Given the description of an element on the screen output the (x, y) to click on. 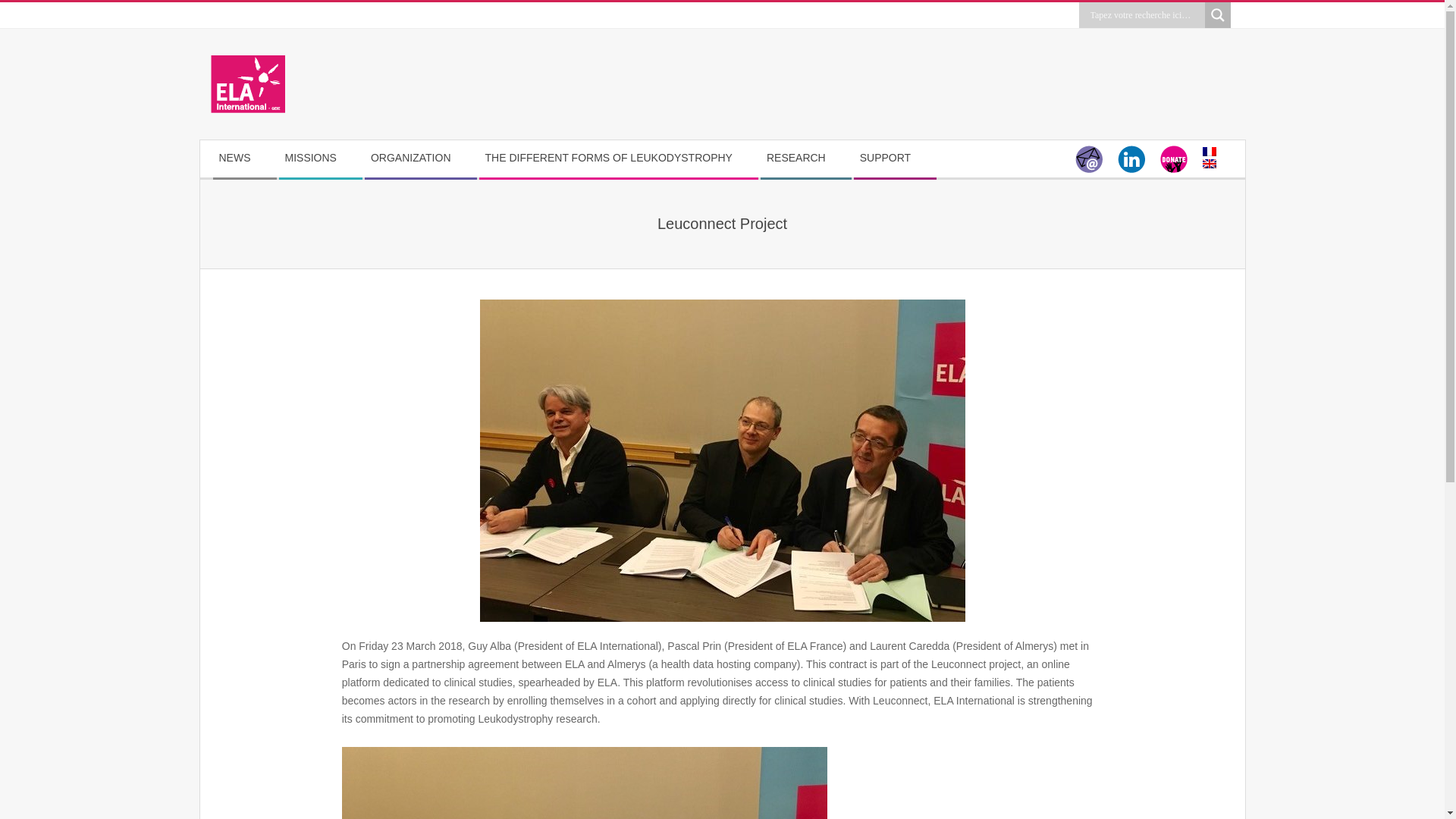
THE DIFFERENT FORMS OF LEUKODYSTROPHY (617, 158)
NEWS (243, 158)
ORGANIZATION (419, 158)
RESEARCH (804, 158)
MISSIONS (320, 158)
Start search (1105, 33)
